Given the description of an element on the screen output the (x, y) to click on. 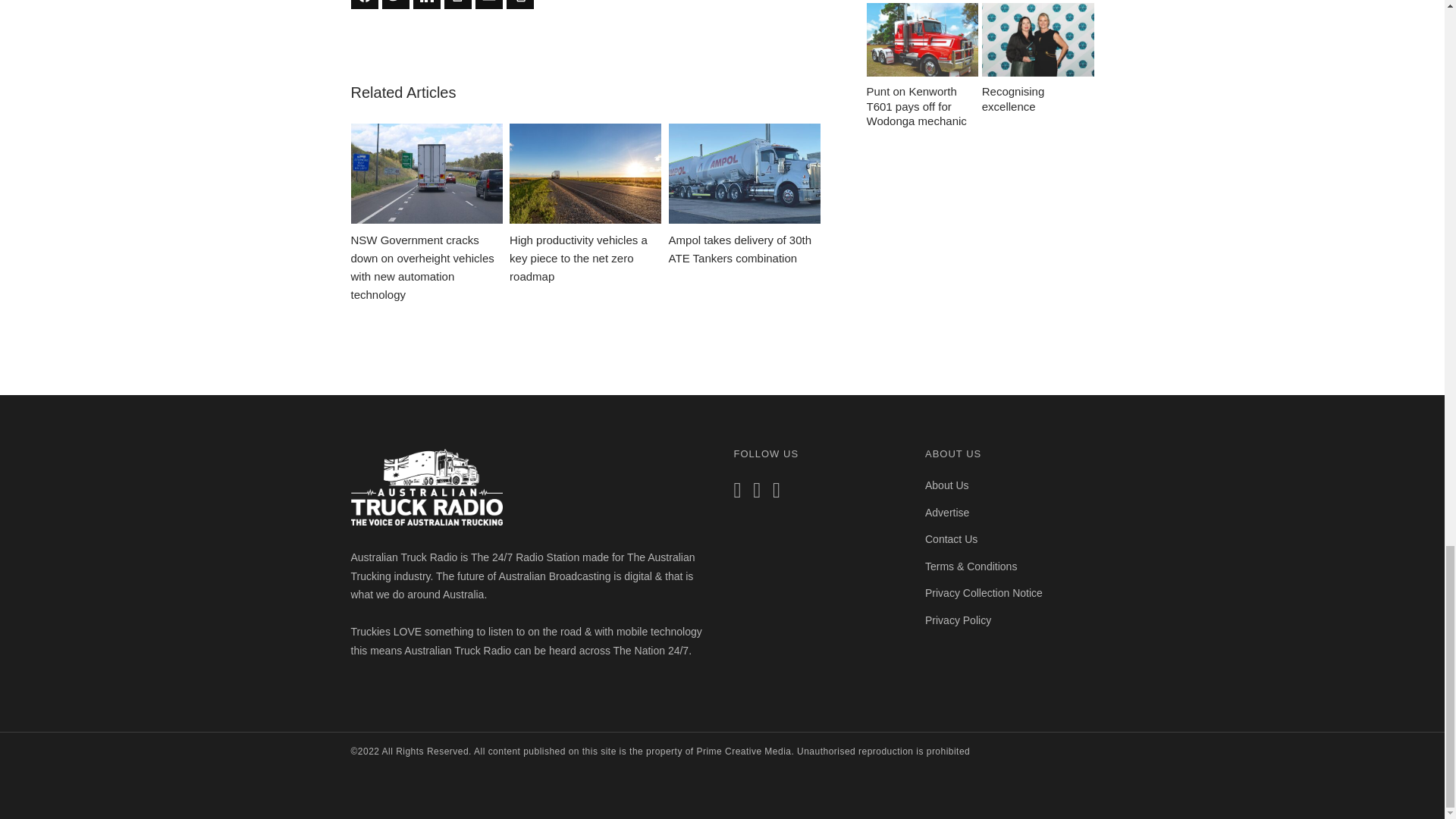
Share on Email (488, 4)
Share on Facebook (363, 4)
Ampol takes delivery of 30th ATE Tankers combination (744, 195)
Share on Print (457, 4)
Share on Twitter (395, 4)
Share on Copy Link (520, 4)
Share on LinkedIn (425, 4)
